Given the description of an element on the screen output the (x, y) to click on. 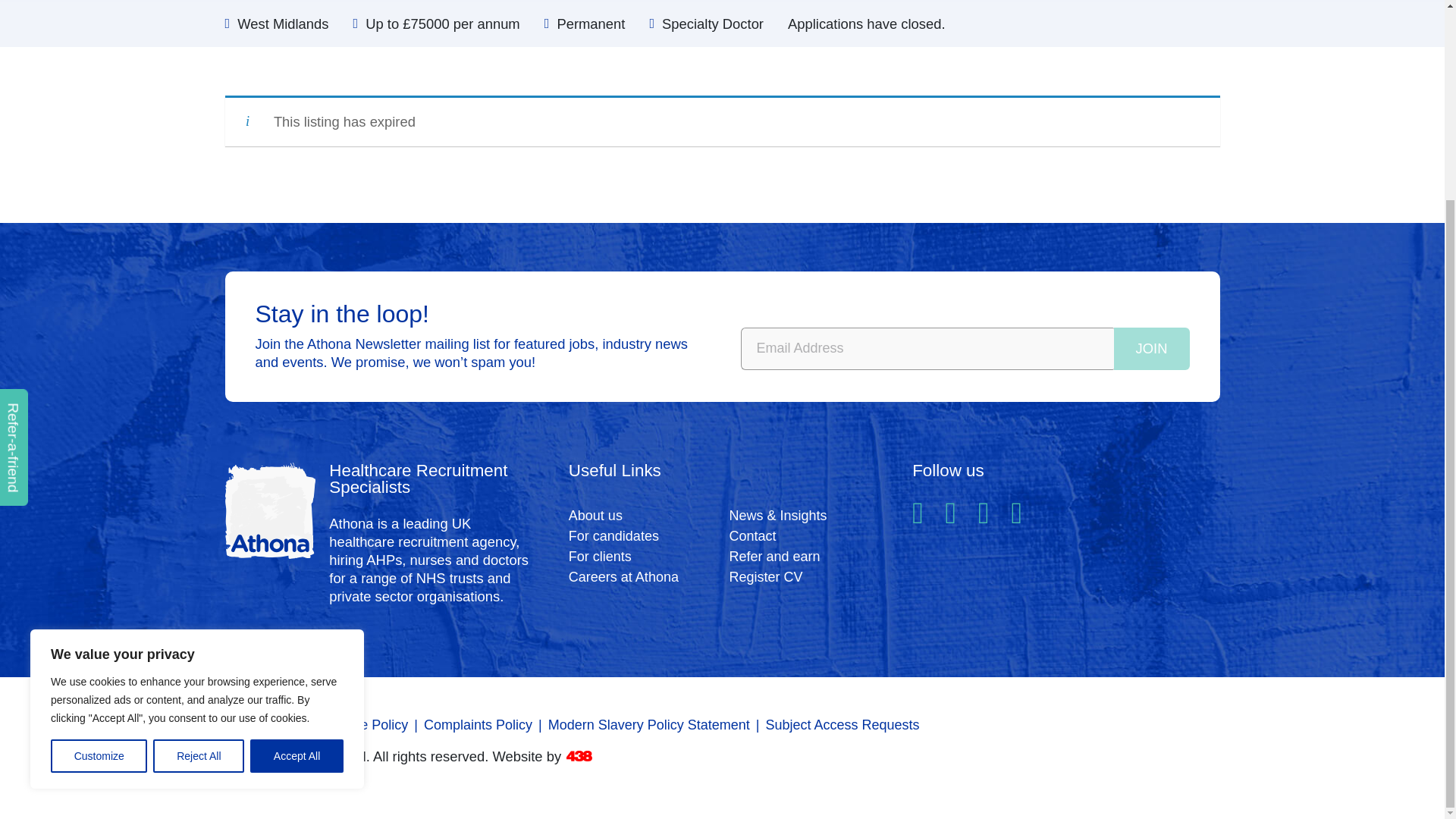
Customize (98, 500)
Accept All (296, 500)
Reject All (198, 500)
